Given the description of an element on the screen output the (x, y) to click on. 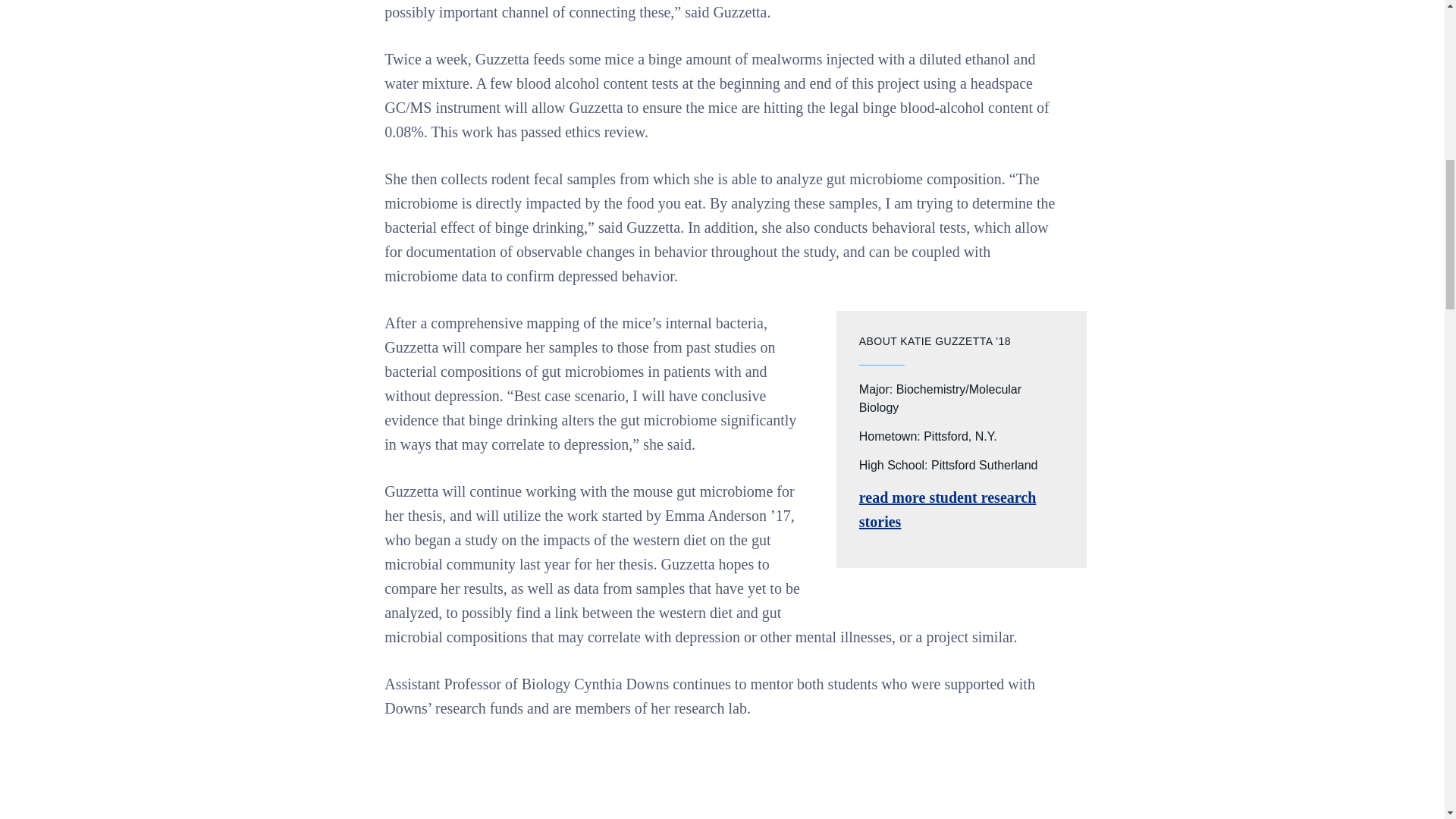
read more student research stories (947, 508)
